Given the description of an element on the screen output the (x, y) to click on. 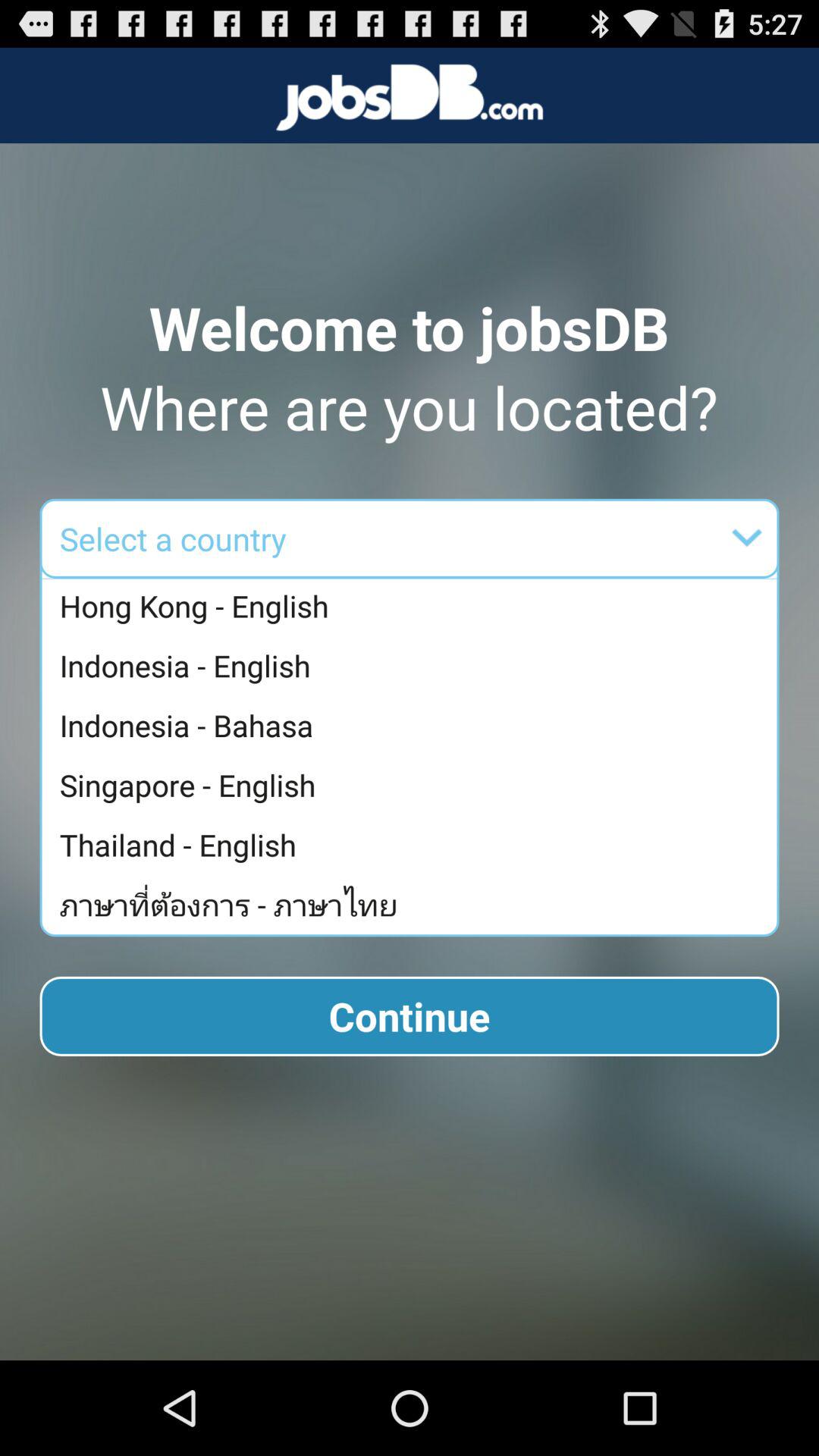
jump until the indonesia - english app (413, 665)
